Given the description of an element on the screen output the (x, y) to click on. 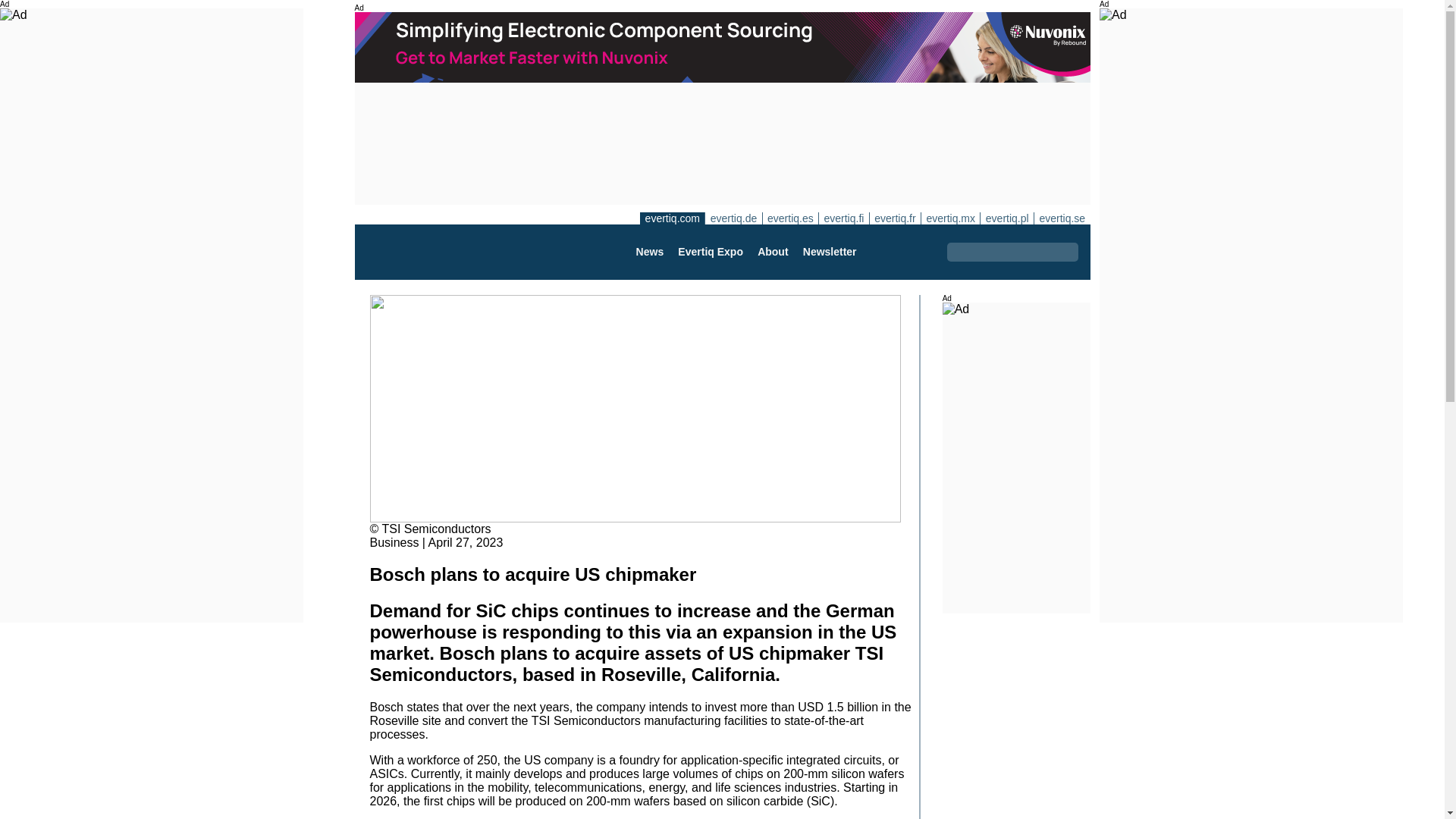
evertiq.fr (894, 218)
evertiq.de (732, 218)
evertiq.mx (949, 218)
About (771, 252)
evertiq.se (1061, 218)
Evertiq Expo (709, 252)
evertiq.fi (843, 218)
evertiq.es (789, 218)
evertiq.pl (1006, 218)
Evertiq AB (442, 251)
